Given the description of an element on the screen output the (x, y) to click on. 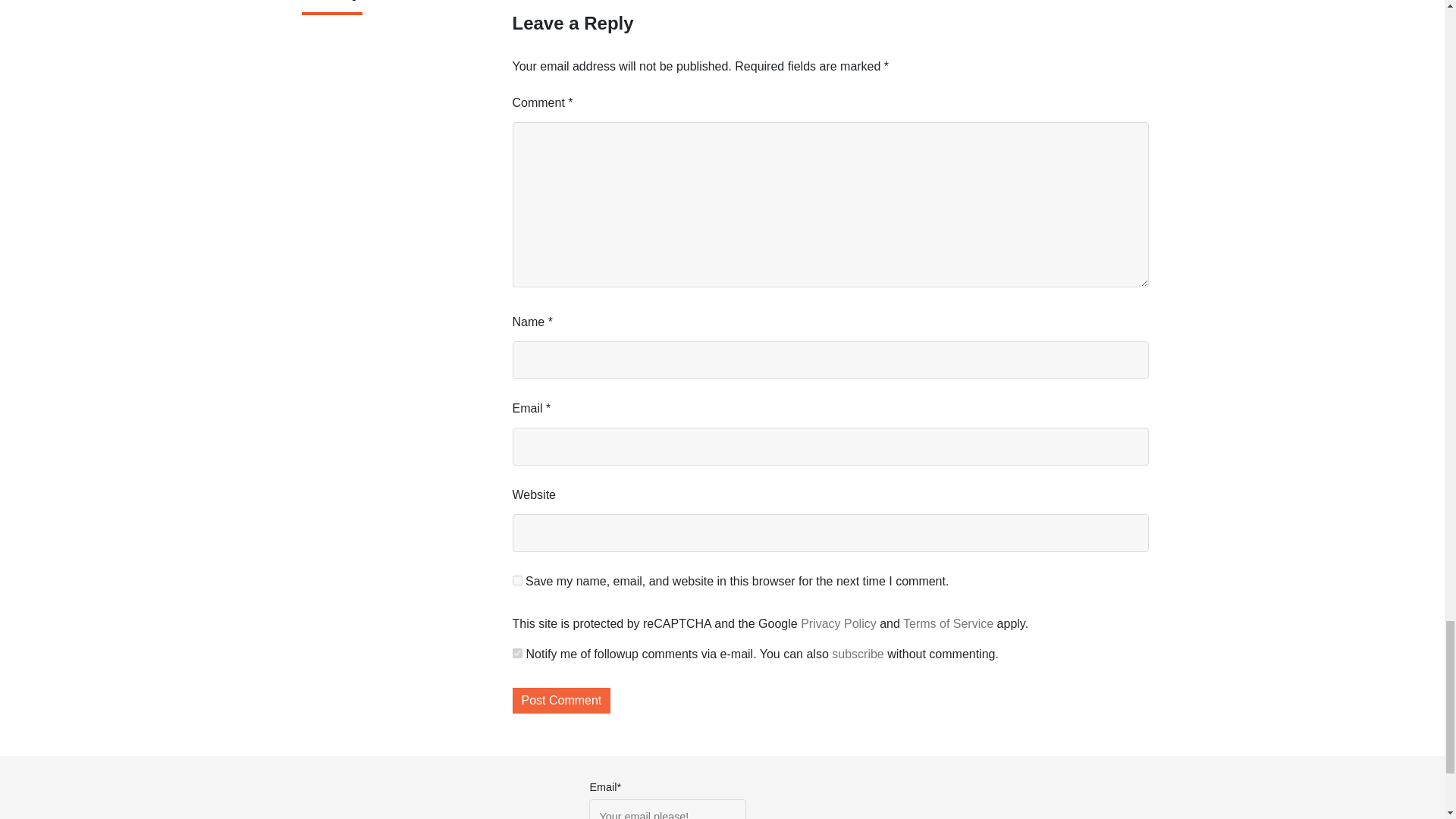
yes (517, 653)
Terms of Service (947, 623)
Post Comment (561, 700)
Post Comment (561, 700)
subscribe (857, 653)
Privacy Policy (838, 623)
yes (517, 580)
